Given the description of an element on the screen output the (x, y) to click on. 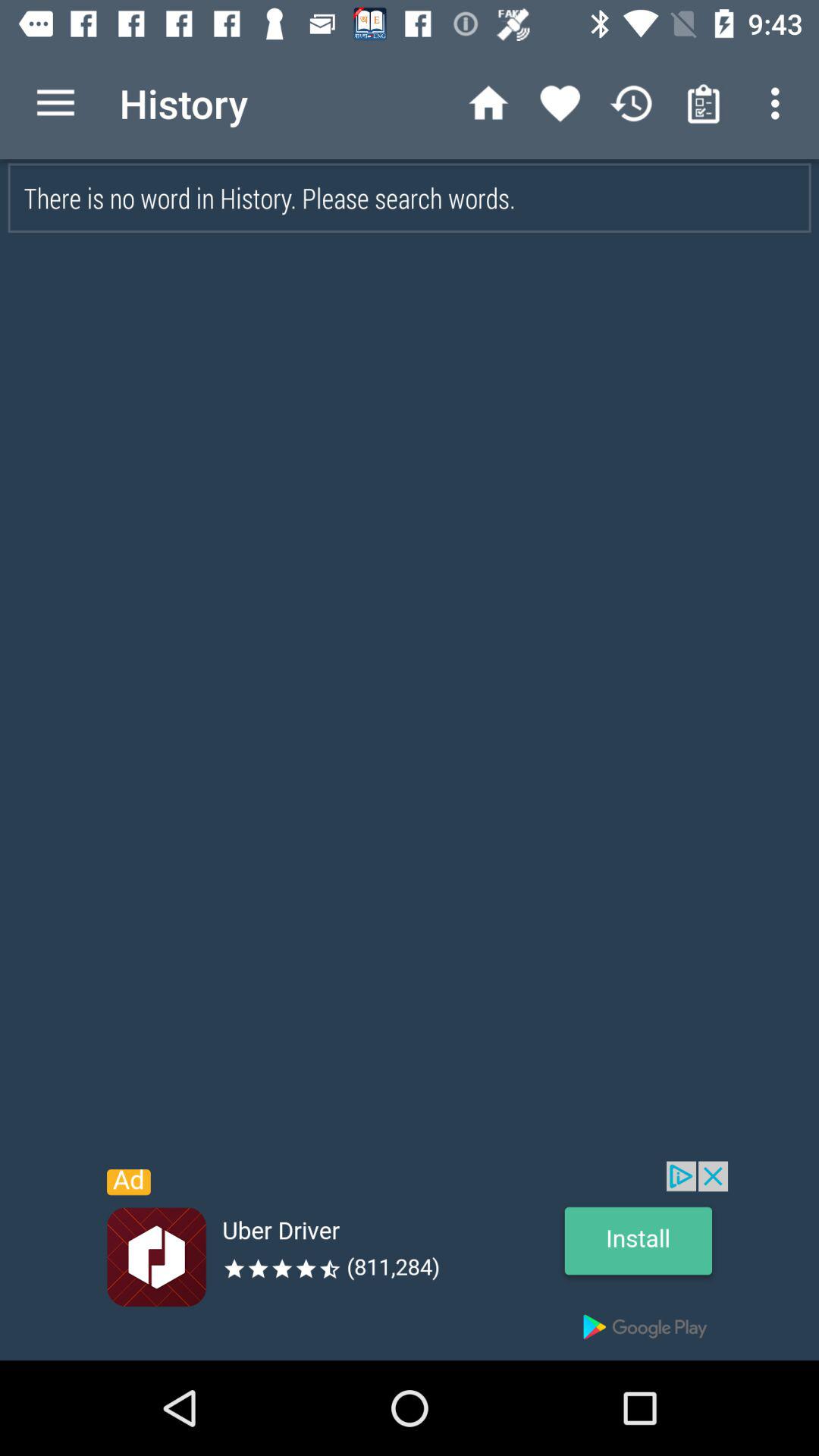
advertisement link (409, 1260)
